Given the description of an element on the screen output the (x, y) to click on. 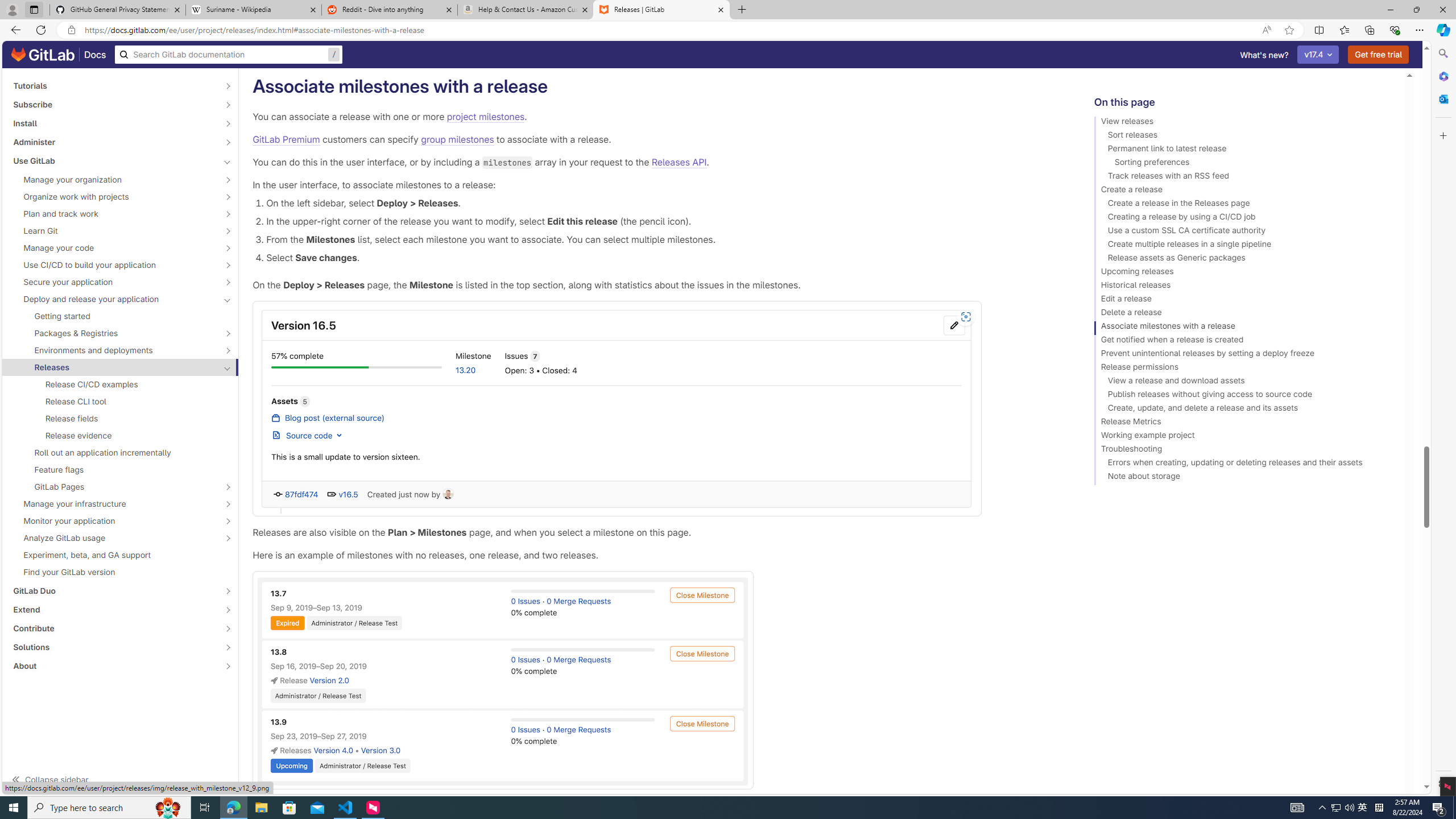
GitLab documentation home (42, 54)
GitHub General Privacy Statement - GitHub Docs (117, 9)
Create, update, and delete a release and its assets (1244, 409)
Release CI/CD examples (120, 384)
Milestones with and without Release associations (654, 679)
Working example project (1244, 436)
Create a release (1244, 191)
Get free trial (1378, 54)
Milestones with and without Release associations (502, 679)
Creating a release by using a CI/CD job (1244, 218)
